Given the description of an element on the screen output the (x, y) to click on. 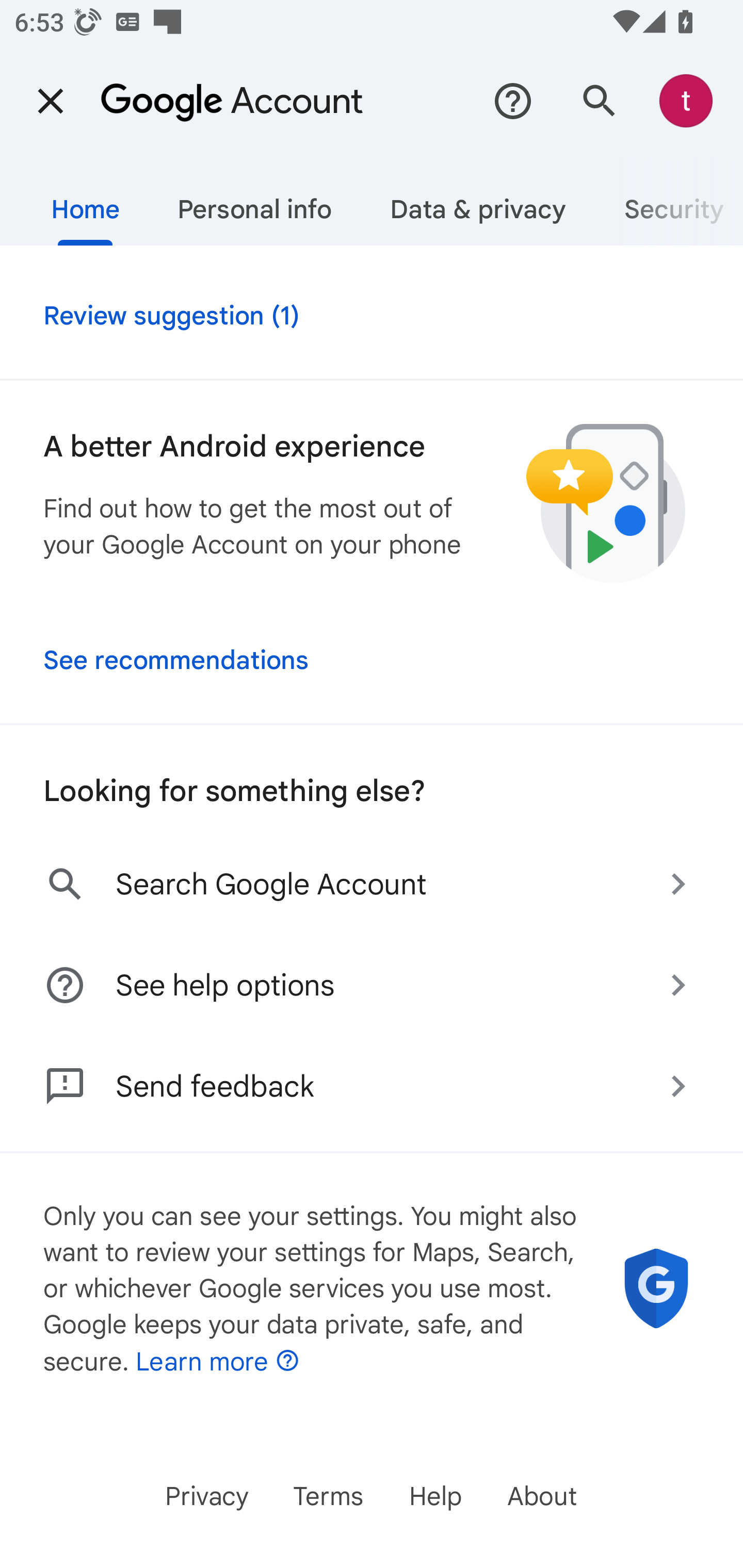
Close (50, 101)
Help (512, 101)
Search (599, 101)
Personal info (254, 202)
Data & privacy (477, 202)
Security (669, 202)
Review suggestion (1) (371, 311)
Search Google Account (371, 884)
See help options (371, 985)
Send feedback (371, 1093)
Privacy Go to Privacy Policy page (206, 1495)
Terms Go to Terms of Service page (327, 1495)
Help Go to Help page (434, 1495)
About Go to Google Account About page (542, 1495)
